Given the description of an element on the screen output the (x, y) to click on. 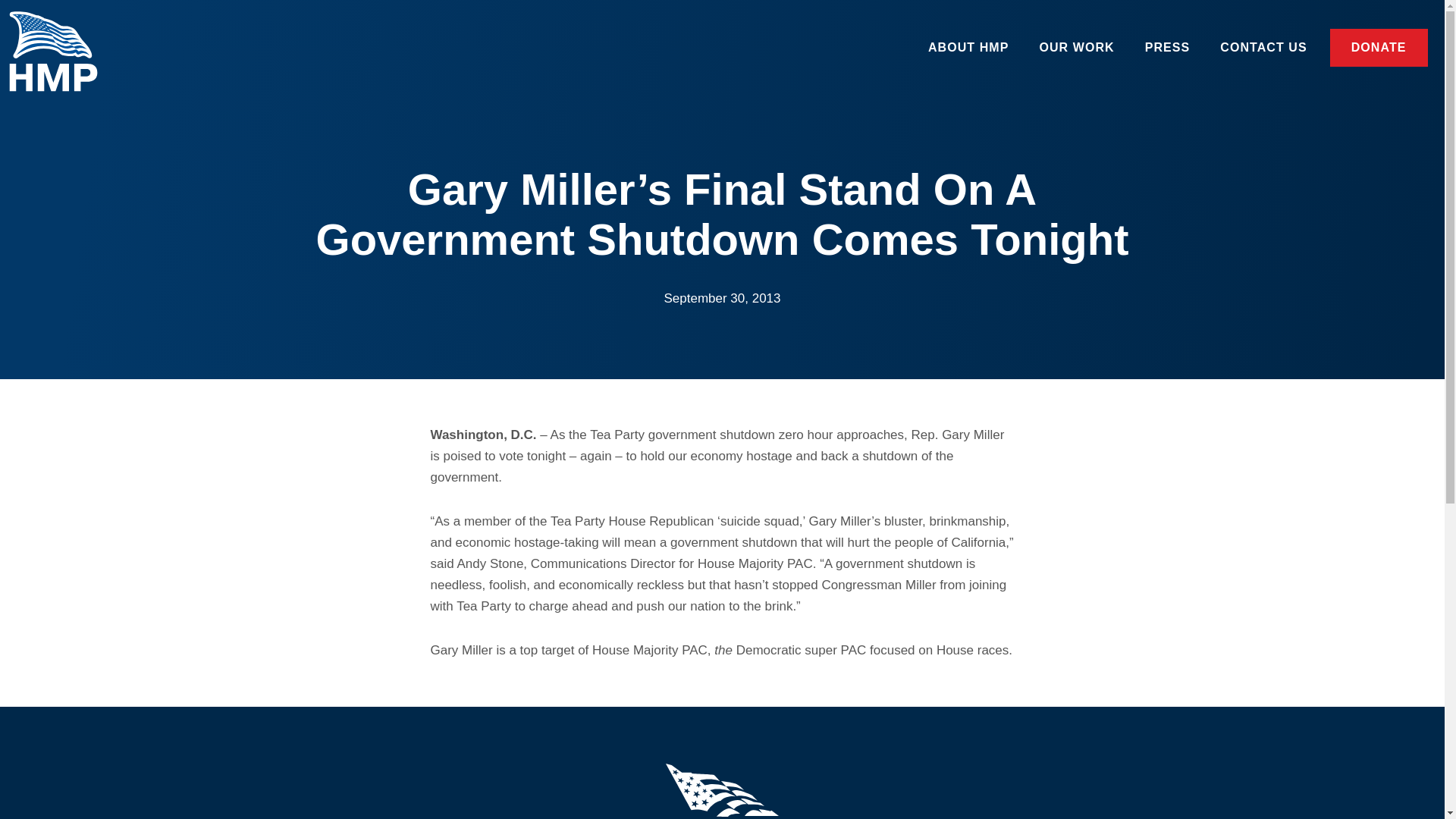
PRESS (1167, 46)
ABOUT HMP (968, 46)
CONTACT US (1263, 46)
DONATE (1375, 46)
homepage (62, 56)
OUR WORK (1076, 46)
